Given the description of an element on the screen output the (x, y) to click on. 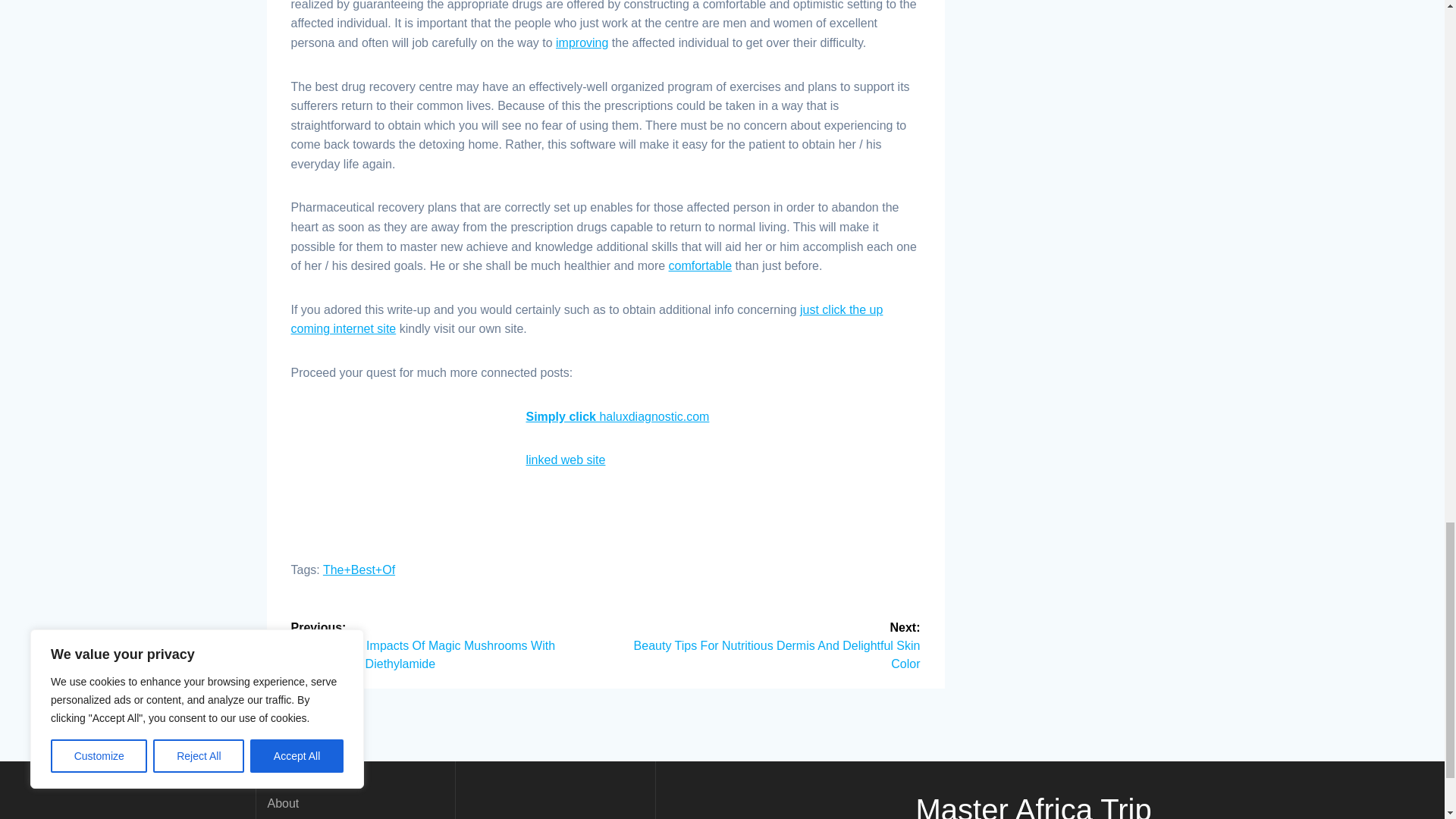
comfortable (700, 265)
linked web site (565, 459)
Simply click haluxdiagnostic.com (617, 416)
just click the up coming internet site (587, 319)
improving (582, 42)
